Given the description of an element on the screen output the (x, y) to click on. 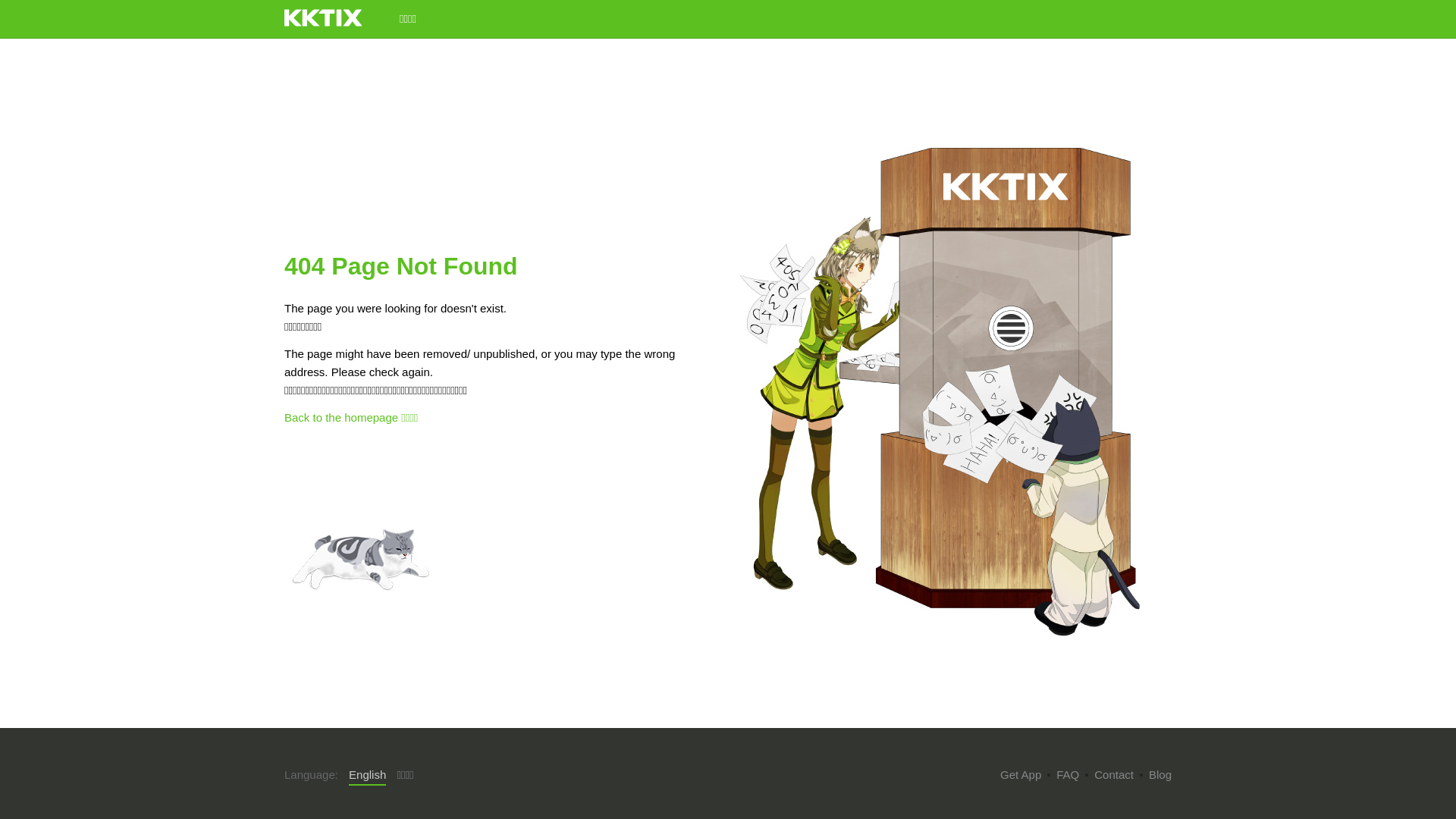
Get App Element type: text (1020, 774)
KKTIX Element type: text (322, 17)
Contact Element type: text (1113, 774)
English Element type: text (366, 775)
FAQ Element type: text (1067, 774)
Blog Element type: text (1159, 774)
